Given the description of an element on the screen output the (x, y) to click on. 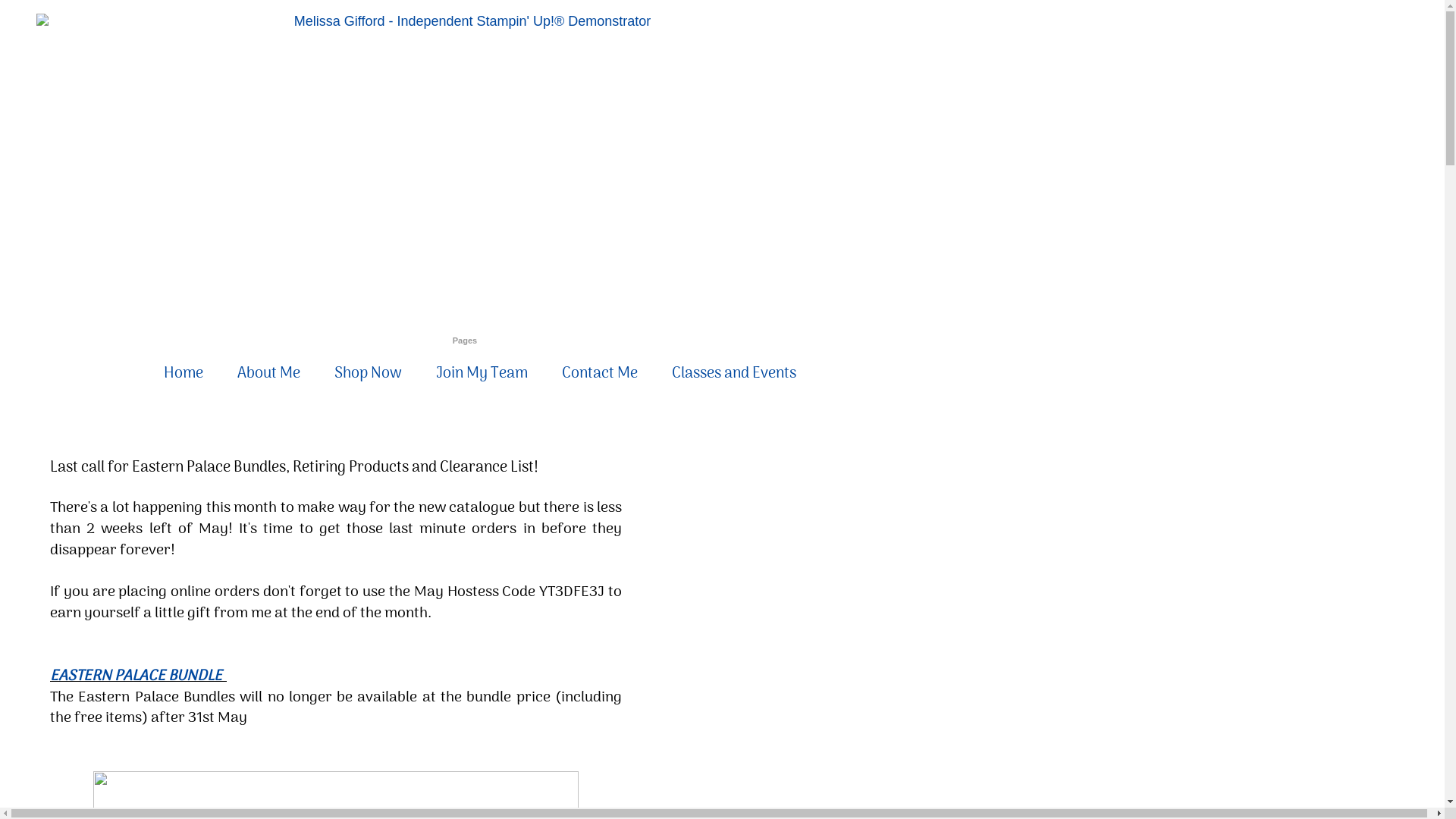
Contact Me Element type: text (599, 373)
EASTERN PALACE BUNDLE  Element type: text (138, 676)
Classes and Events Element type: text (733, 373)
Join My Team Element type: text (481, 373)
Shop Now Element type: text (368, 373)
Home Element type: text (183, 373)
About Me Element type: text (268, 373)
